Given the description of an element on the screen output the (x, y) to click on. 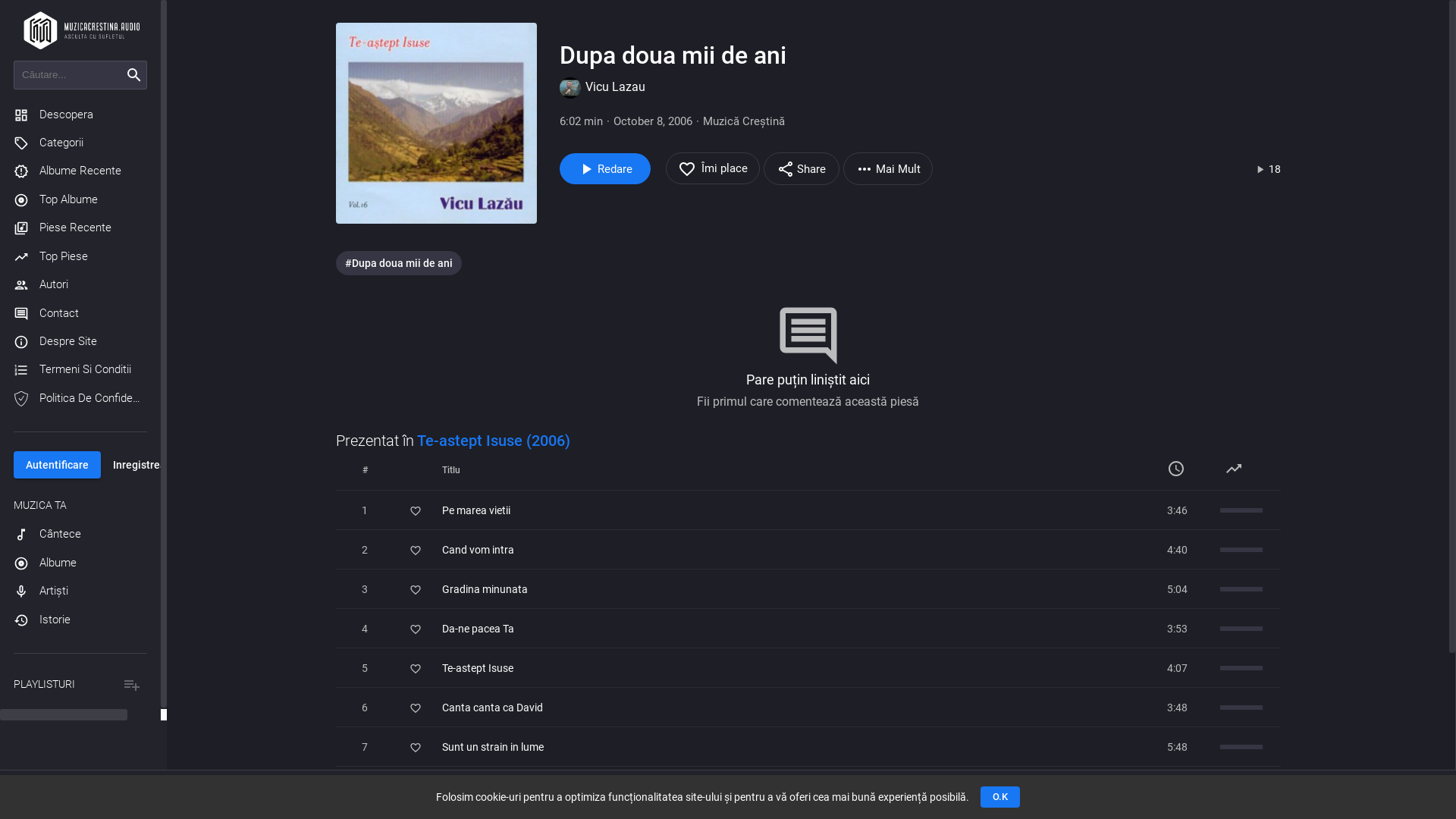
O.K Element type: text (999, 796)
